Given the description of an element on the screen output the (x, y) to click on. 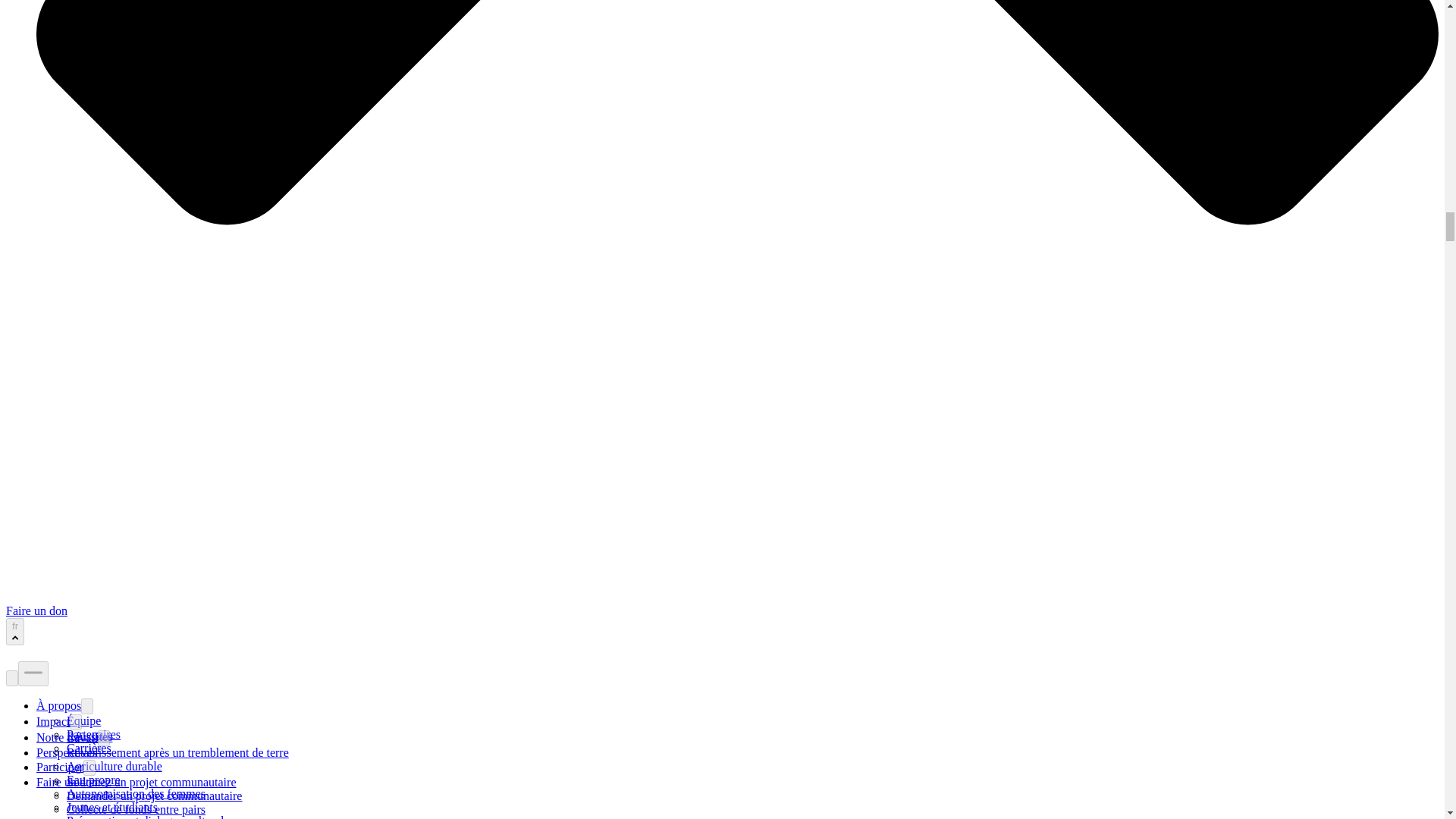
Impact (52, 721)
Faire un don (35, 610)
Partenaires (93, 734)
